Given the description of an element on the screen output the (x, y) to click on. 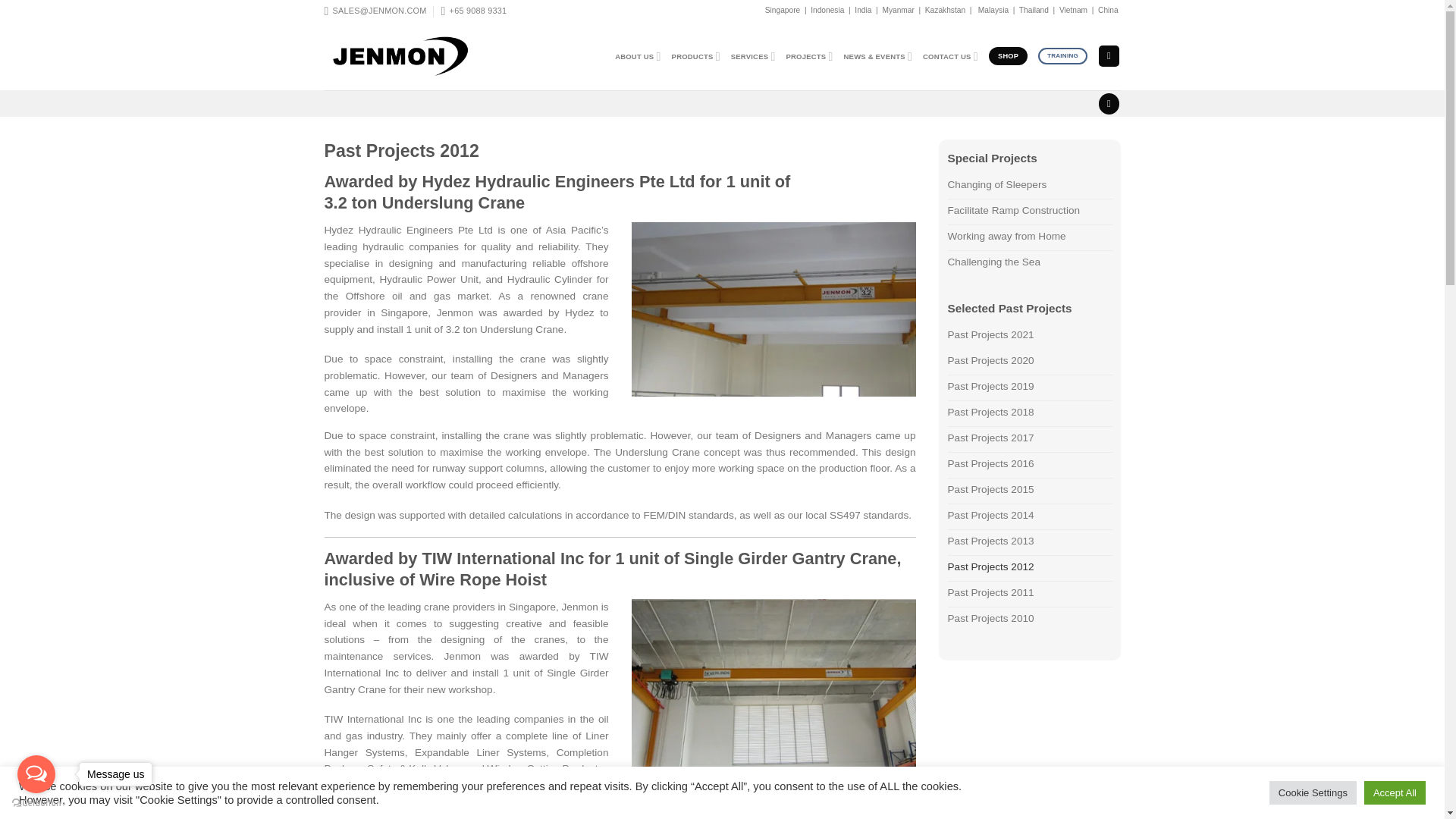
PRODUCTS (695, 56)
ABOUT US (637, 56)
Cart (1109, 55)
